Given the description of an element on the screen output the (x, y) to click on. 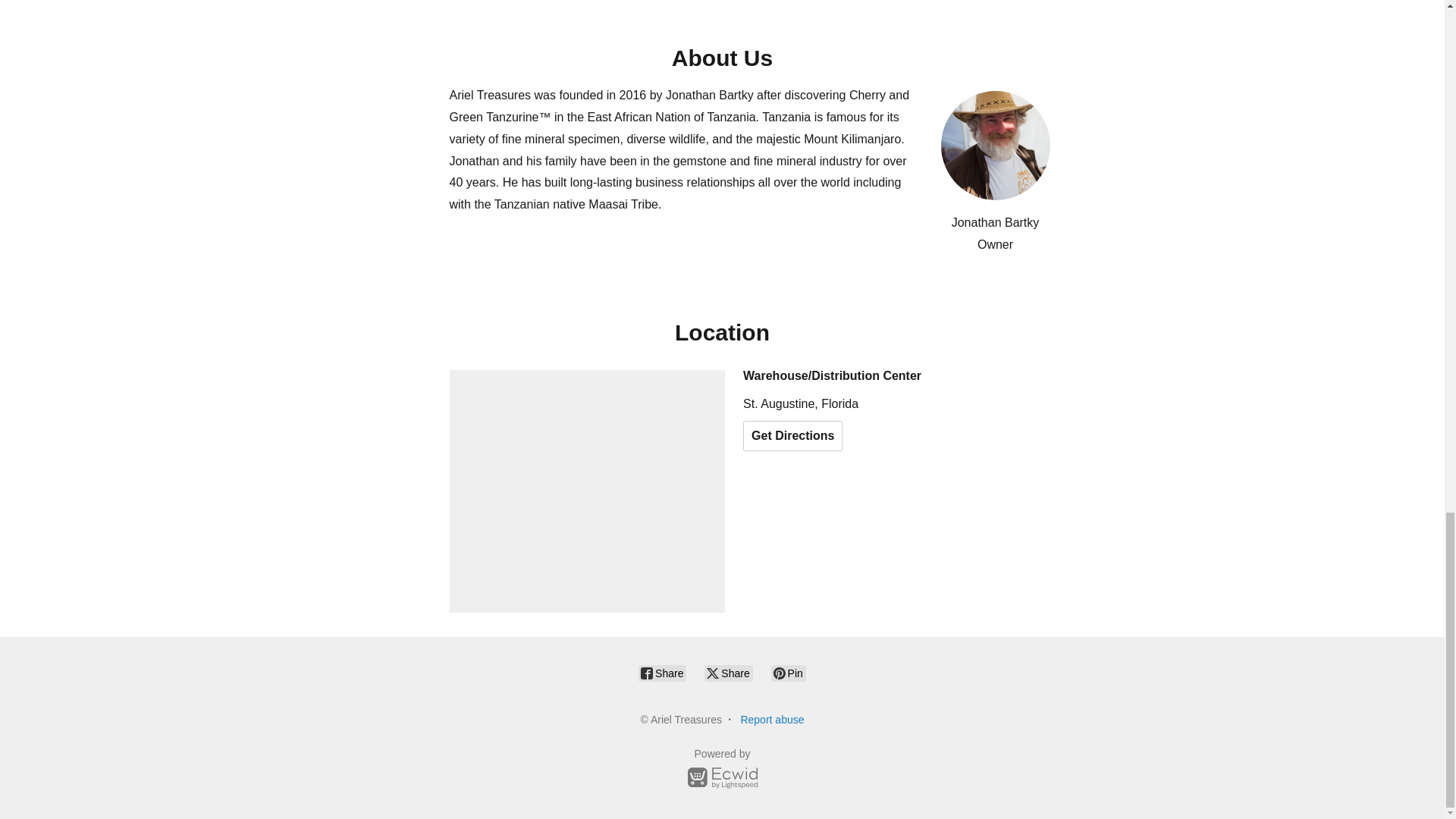
Location on map (586, 491)
